Given the description of an element on the screen output the (x, y) to click on. 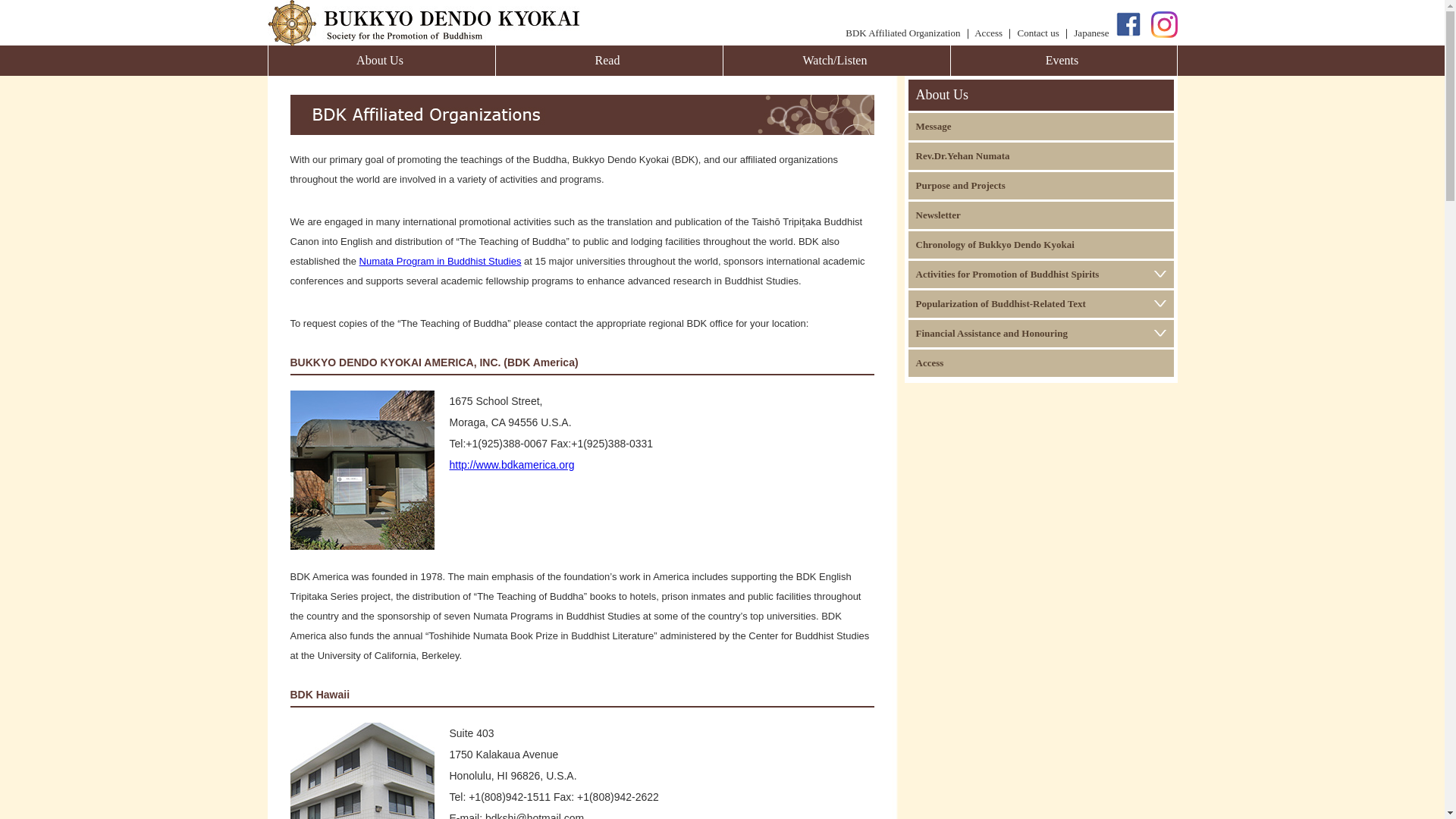
Contact us (1038, 32)
Access (988, 32)
Japanese (1091, 32)
BDK Affiliated Organization (902, 32)
